Given the description of an element on the screen output the (x, y) to click on. 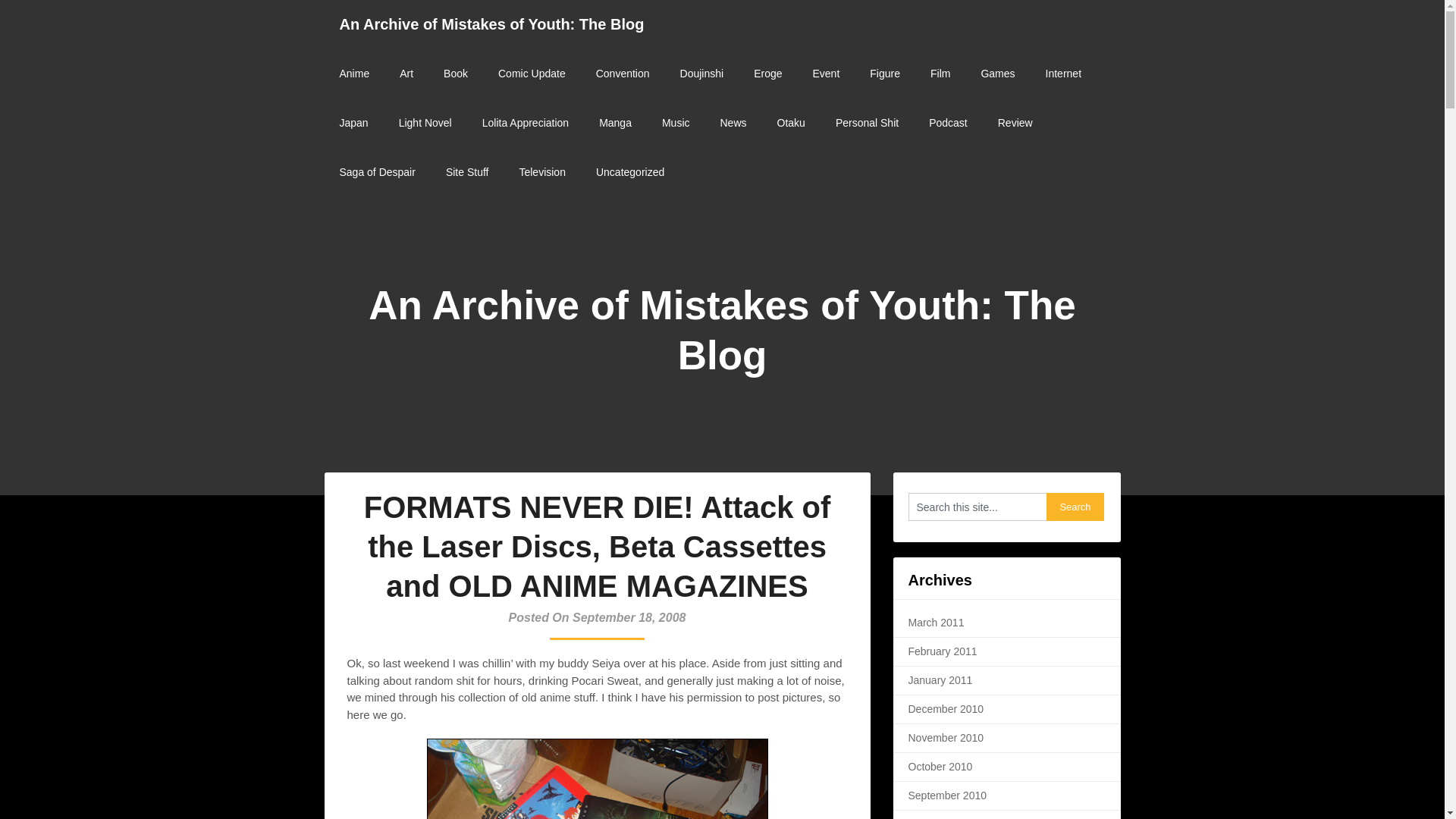
Event (825, 73)
Lolita Appreciation (525, 123)
Review (1015, 123)
Otaku (791, 123)
Convention (622, 73)
Television (541, 172)
Games (997, 73)
Comic Update (531, 73)
Book (455, 73)
Anime (354, 73)
